Given the description of an element on the screen output the (x, y) to click on. 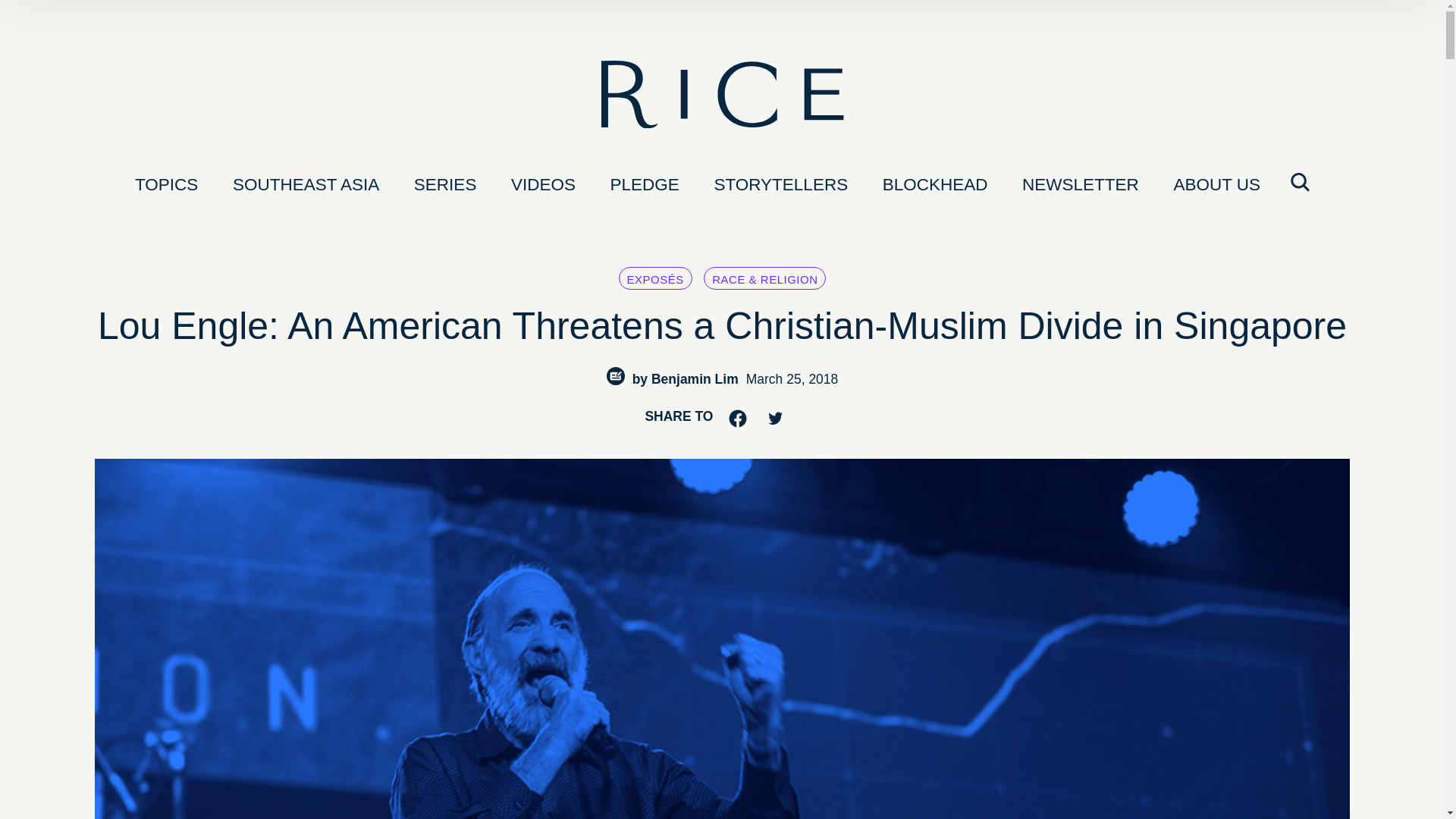
NEWSLETTER (1080, 182)
SOUTHEAST ASIA (306, 182)
ABOUT US (1217, 182)
VIDEOS (543, 182)
PLEDGE (644, 182)
BLOCKHEAD (935, 182)
SERIES (445, 182)
STORYTELLERS (781, 182)
TOPICS (166, 182)
Homepage (721, 97)
